Given the description of an element on the screen output the (x, y) to click on. 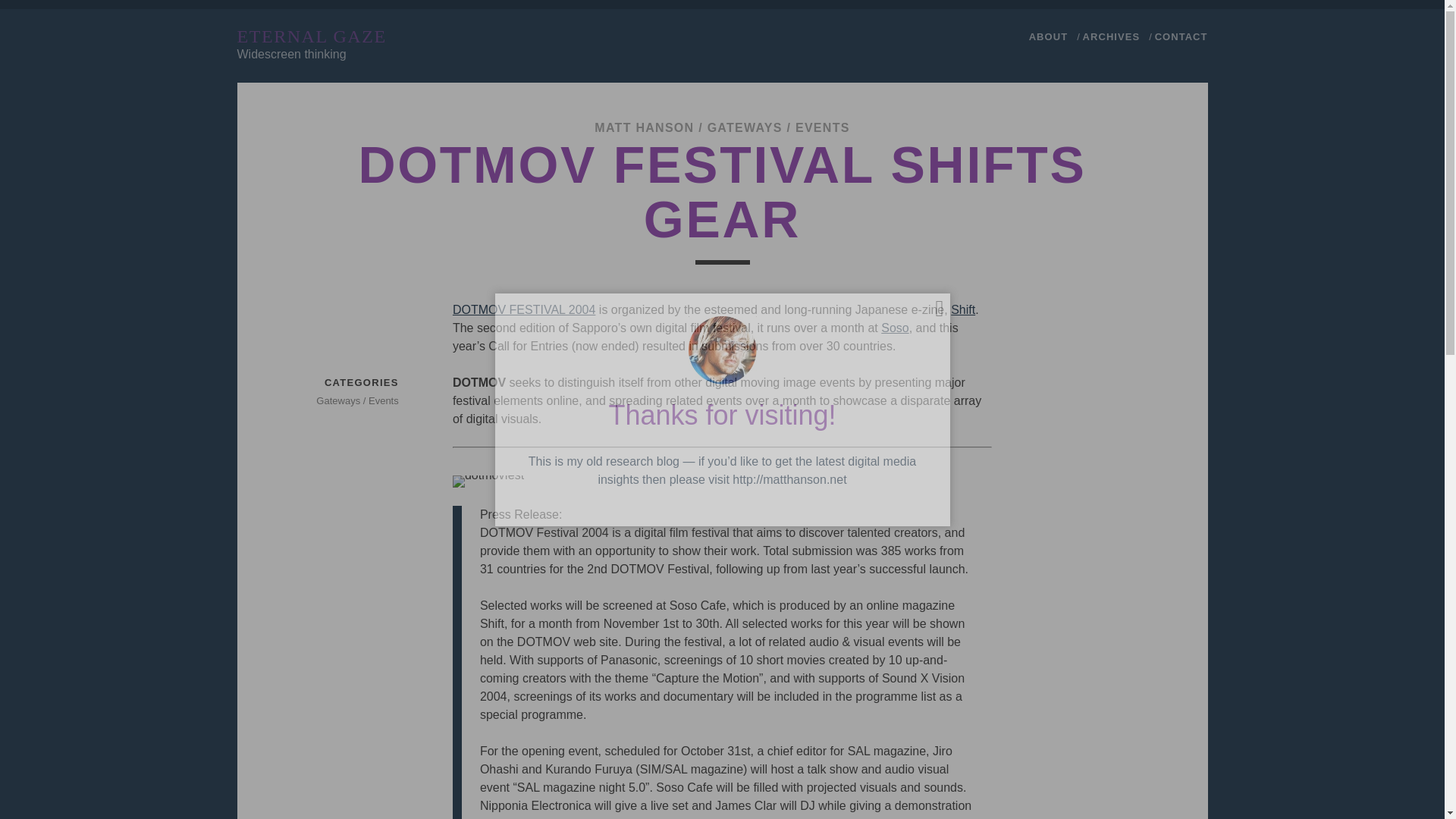
CONTACT (1181, 36)
ETERNAL GAZE (310, 35)
ABOUT (1048, 36)
Eternal Gaze  (310, 35)
MATT HANSON (644, 127)
Shift (962, 309)
DOTMOV FESTIVAL 2004 (523, 309)
Posts by Matt Hanson (644, 127)
ARCHIVES (1111, 36)
Soso (894, 327)
SHIFT (962, 309)
Soso (894, 327)
